Given the description of an element on the screen output the (x, y) to click on. 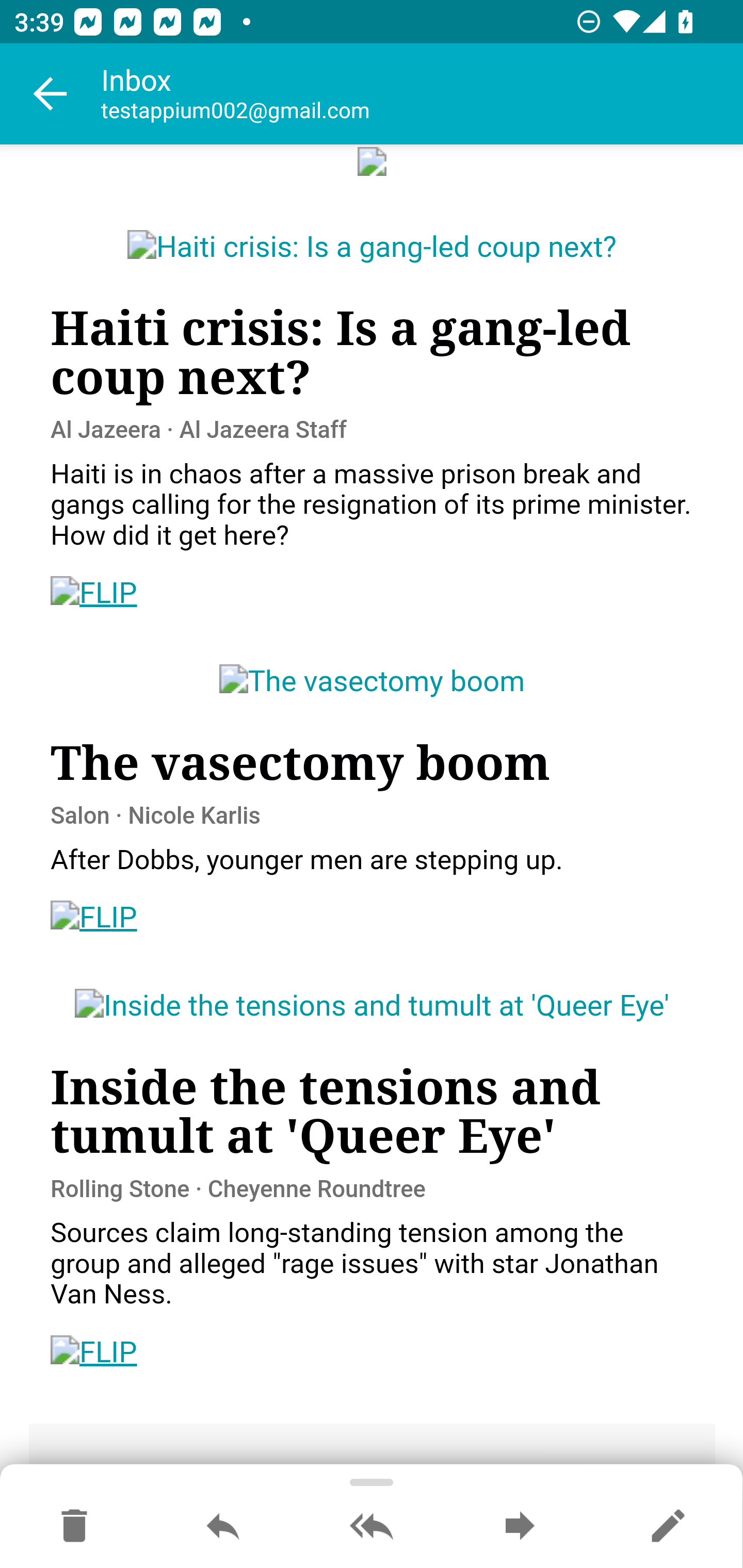
Navigate up (50, 93)
Inbox testappium002@gmail.com (422, 93)
data: (372, 161)
FLIP (93, 593)
FLIP (93, 918)
FLIP (93, 1352)
Move to Deleted (74, 1527)
Reply (222, 1527)
Reply all (371, 1527)
Forward (519, 1527)
Reply as new (667, 1527)
